Given the description of an element on the screen output the (x, y) to click on. 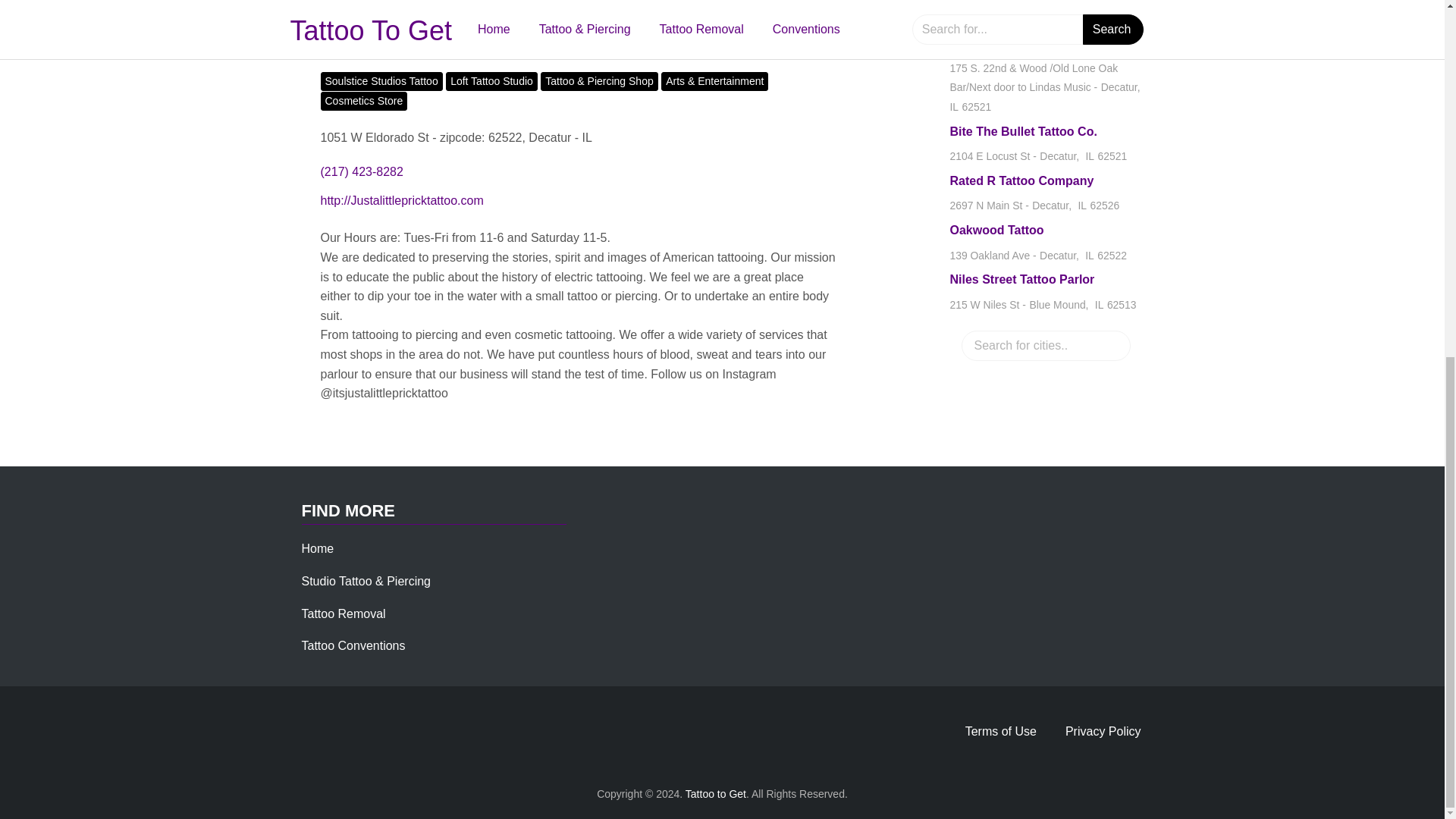
Tattoo to Get (1045, 194)
Home (1045, 243)
Soulstice Studios Tattoo (715, 793)
Advertisement (317, 548)
Privacy Policy (381, 81)
Cosmetics Store (577, 4)
Tattoo Conventions (1103, 731)
Terms of Use (363, 100)
Loft Tattoo Studio (353, 645)
Tattoo Removal (1000, 731)
